Given the description of an element on the screen output the (x, y) to click on. 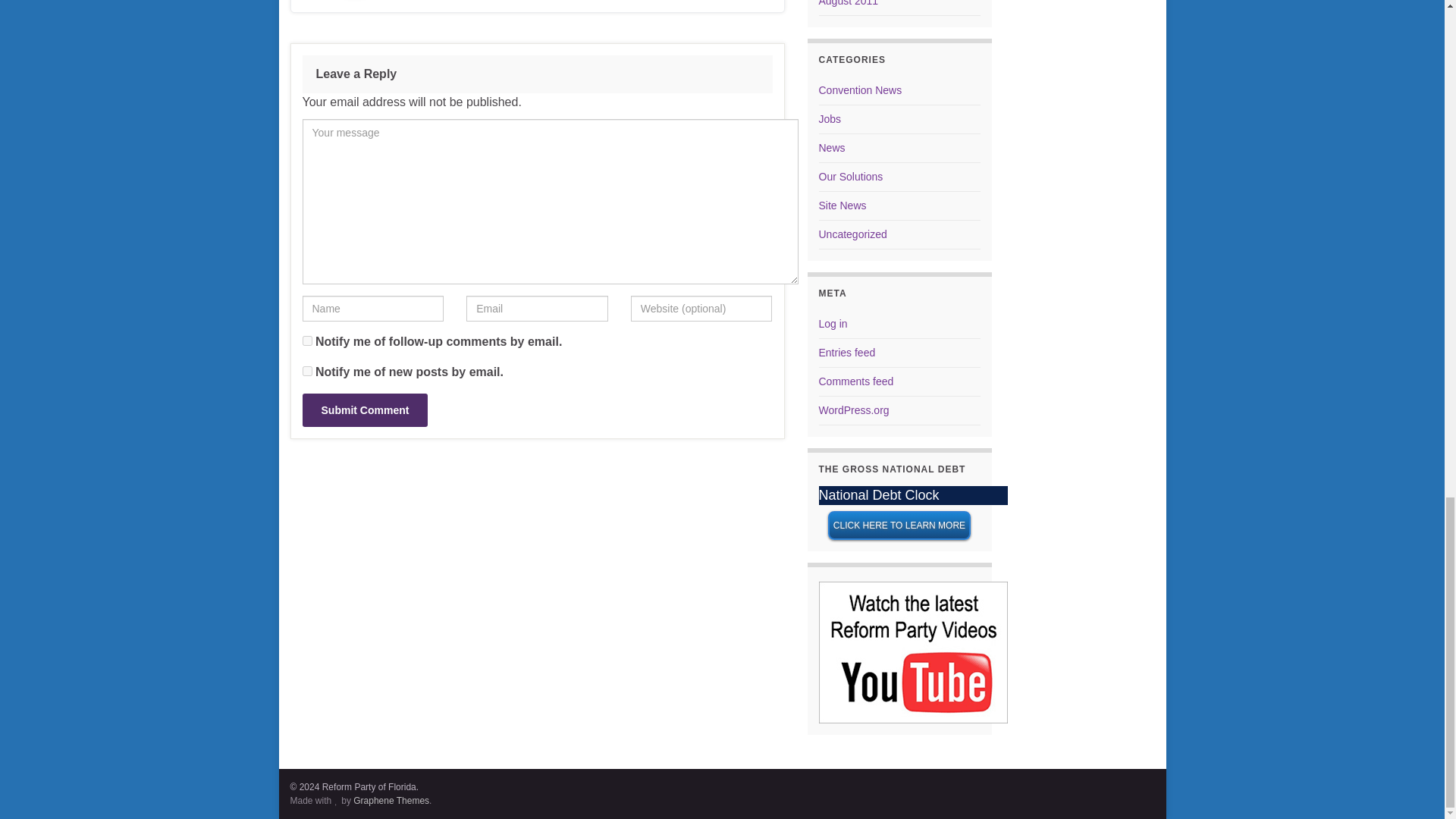
subscribe (306, 340)
subscribe (306, 370)
Submit Comment (364, 409)
Submit Comment (364, 409)
Watch The Latest Reform Party Videos on YouTube (912, 652)
